Given the description of an element on the screen output the (x, y) to click on. 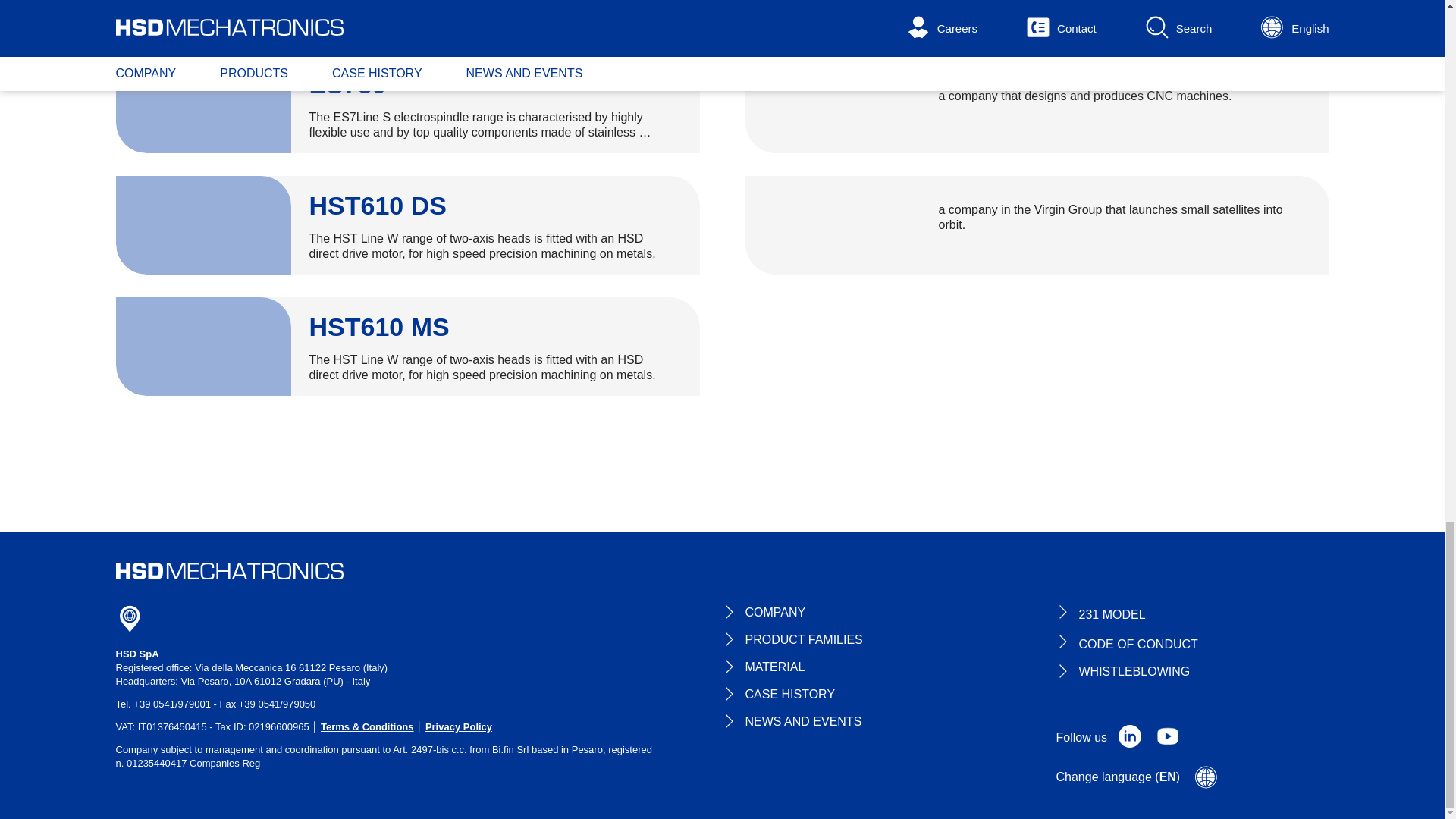
HST610 DS (377, 205)
WHISTLEBLOWING (1122, 671)
MATERIAL (763, 667)
ES789 (347, 84)
231 MODEL (1099, 613)
Privacy Policy (458, 726)
CODE OF CONDUCT (1125, 642)
HSD Logo (228, 570)
COMPANY (763, 612)
PRODUCT FAMILIES (791, 639)
